Given the description of an element on the screen output the (x, y) to click on. 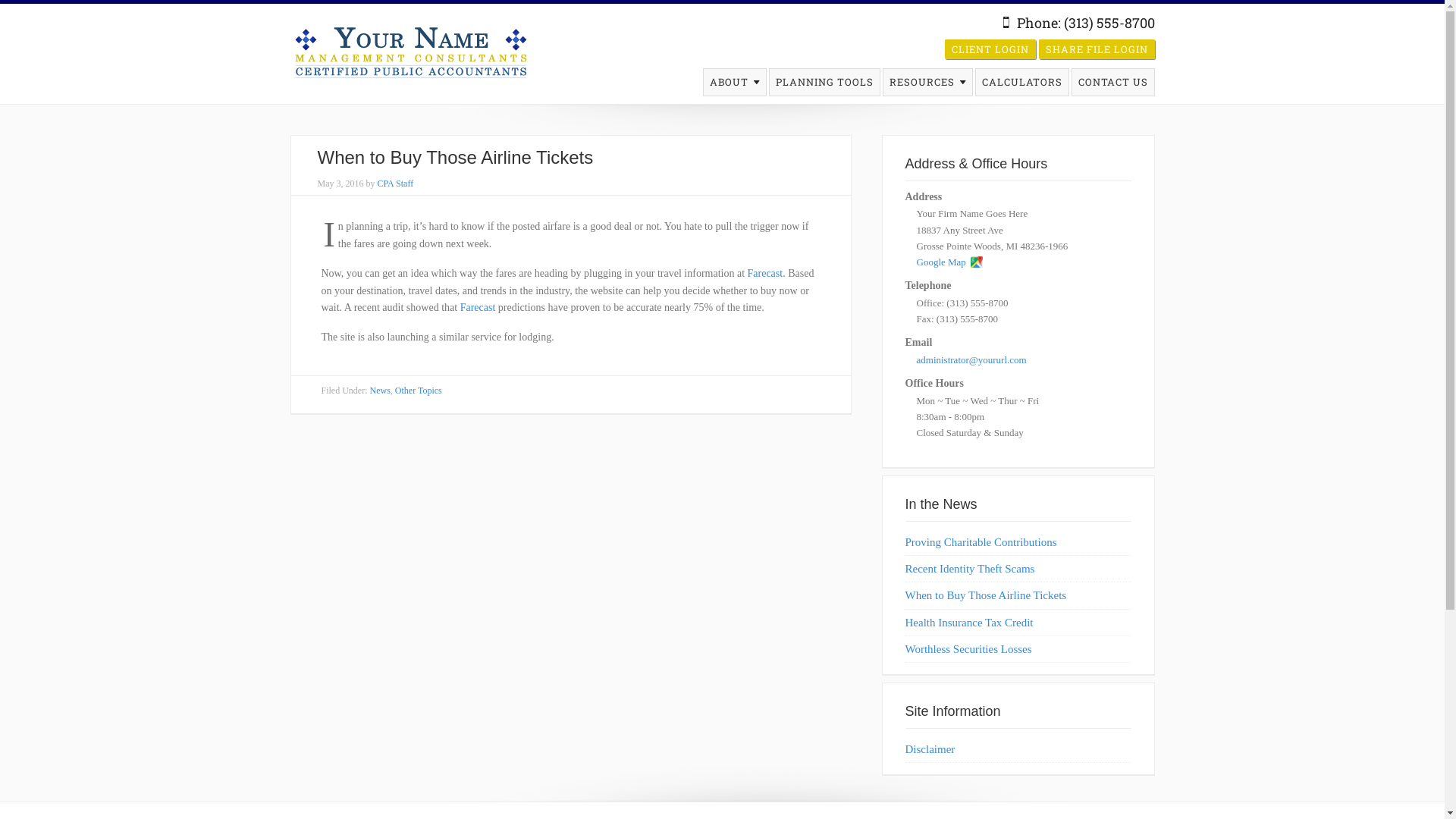
Health Insurance Tax Credit Element type: text (969, 622)
RESOURCES Element type: text (921, 82)
Generic CPA Website Element type: text (410, 50)
PLANNING TOOLS Element type: text (823, 82)
CONTACT US Element type: text (1113, 82)
CALCULATORS Element type: text (1021, 82)
Other Topics Element type: text (418, 390)
Worthless Securities Losses Element type: text (968, 649)
CLIENT LOGIN Element type: text (989, 49)
When to Buy Those Airline Tickets Element type: text (985, 595)
News Element type: text (380, 390)
administrator@yoururl.com Element type: text (971, 359)
SHARE FILE LOGIN Element type: text (1096, 49)
Recent Identity Theft Scams Element type: text (970, 568)
ABOUT Element type: text (728, 82)
Proving Charitable Contributions Element type: text (981, 542)
Farecast Element type: text (477, 307)
CPA Staff Element type: text (395, 183)
Disclaimer Element type: text (930, 749)
Farecast Element type: text (765, 273)
Google Map Element type: text (949, 261)
